Given the description of an element on the screen output the (x, y) to click on. 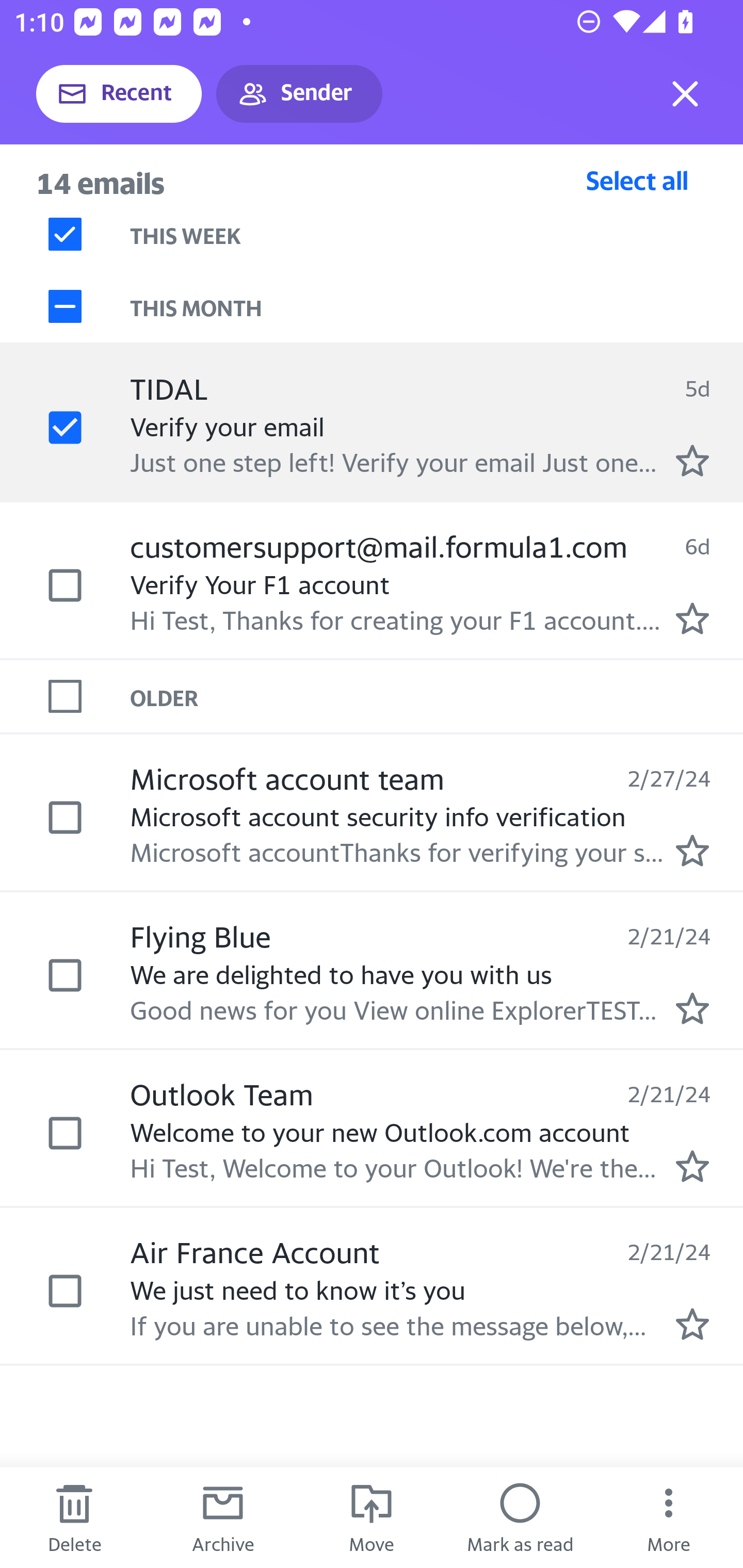
Sender (299, 93)
Exit selection mode (684, 93)
Select all (637, 180)
THIS MONTH (436, 306)
Mark as starred. (692, 460)
Mark as starred. (692, 618)
OLDER (436, 696)
Mark as starred. (692, 850)
Mark as starred. (692, 1008)
Mark as starred. (692, 1165)
Mark as starred. (692, 1324)
Delete (74, 1517)
Archive (222, 1517)
Move (371, 1517)
Mark as read (519, 1517)
More (668, 1517)
